Given the description of an element on the screen output the (x, y) to click on. 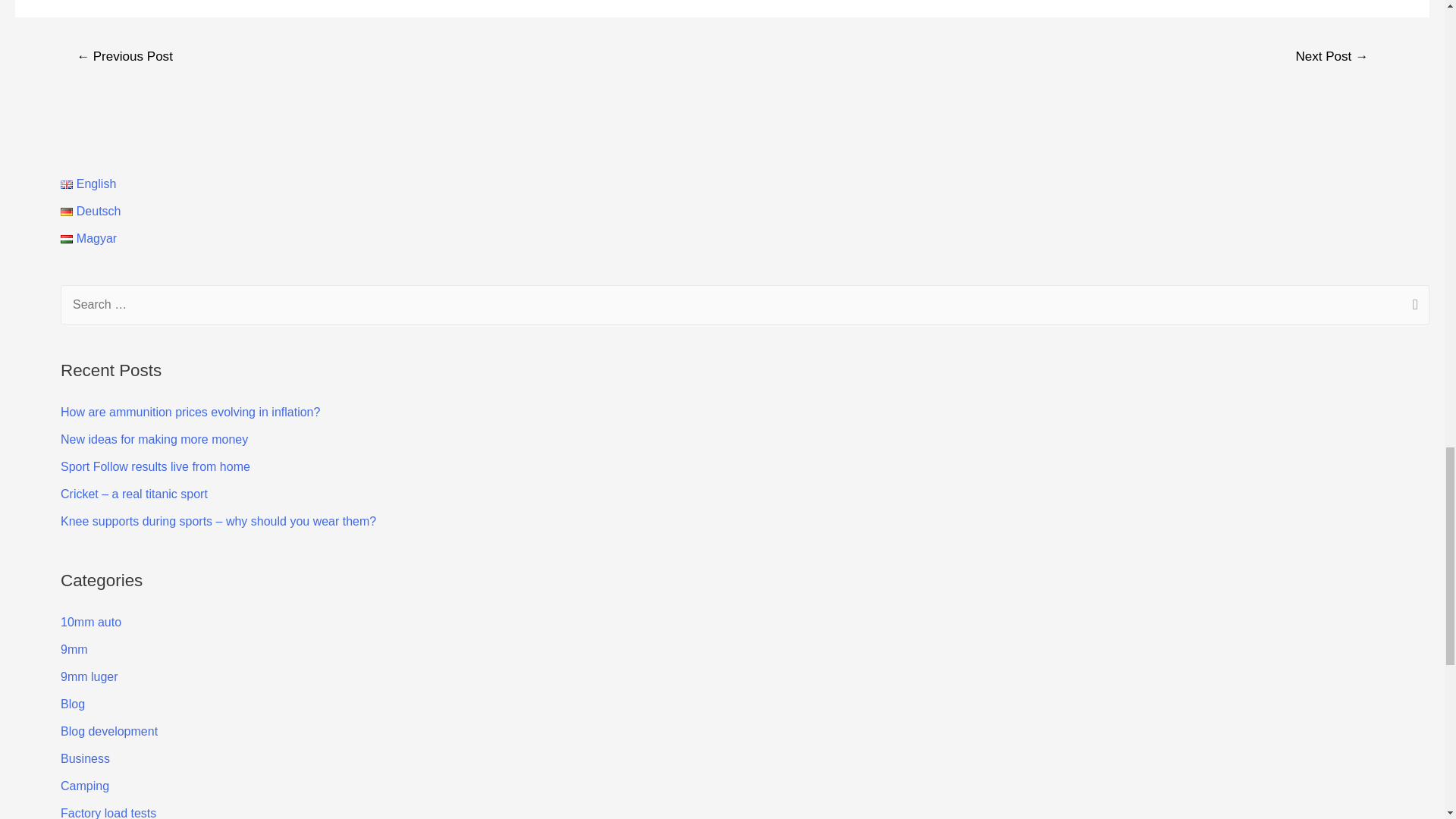
9mm luger (89, 676)
Deutsch (90, 210)
English (88, 183)
How are ammunition prices evolving in inflation? (190, 411)
Magyar (88, 237)
Sport Follow results live from home (155, 466)
9mm (74, 649)
10mm auto (90, 621)
New ideas for making more money (154, 439)
